Given the description of an element on the screen output the (x, y) to click on. 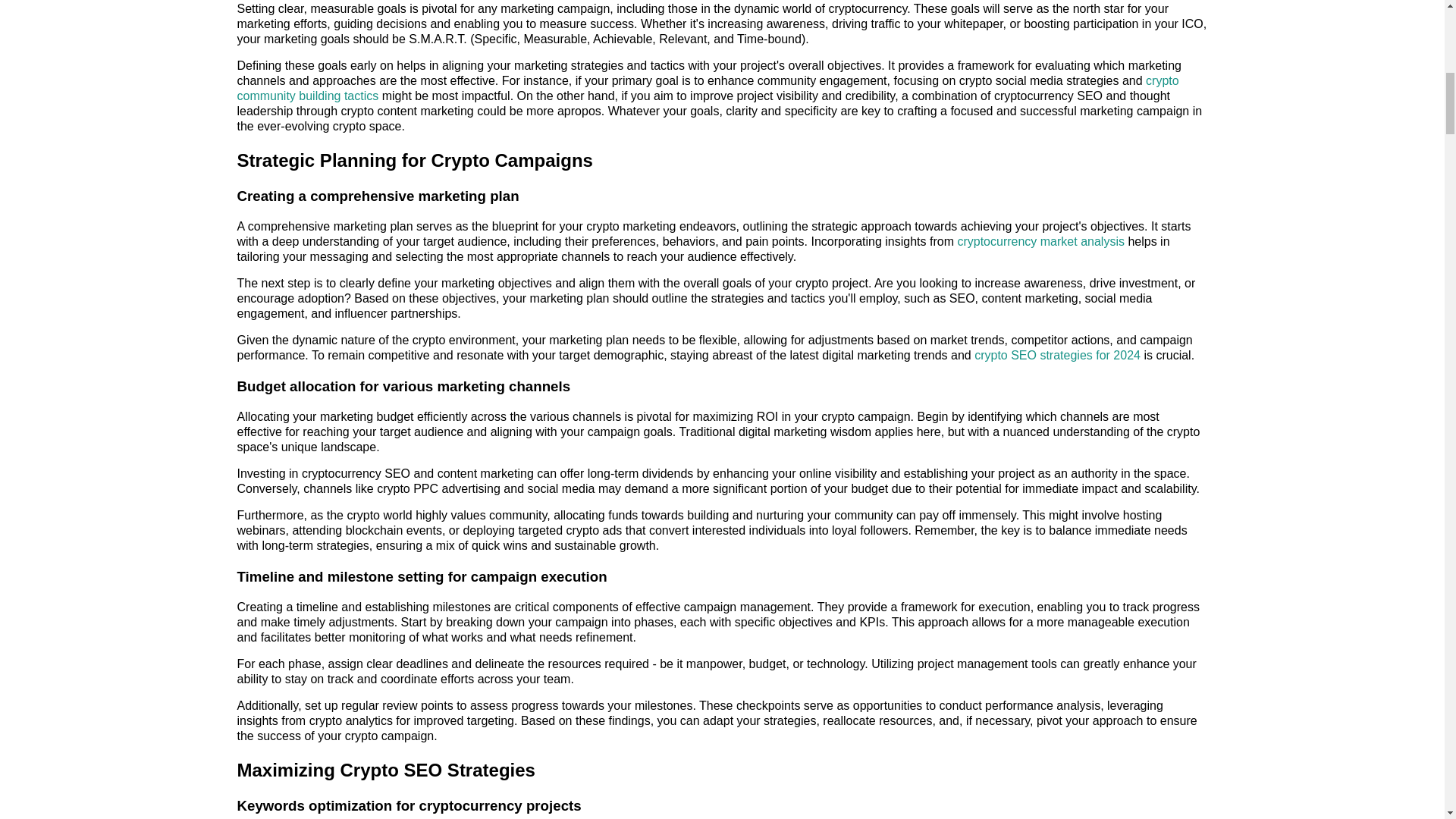
crypto SEO strategies for 2024 (1057, 354)
crypto community building tactics (706, 88)
cryptocurrency market analysis (1040, 241)
